Given the description of an element on the screen output the (x, y) to click on. 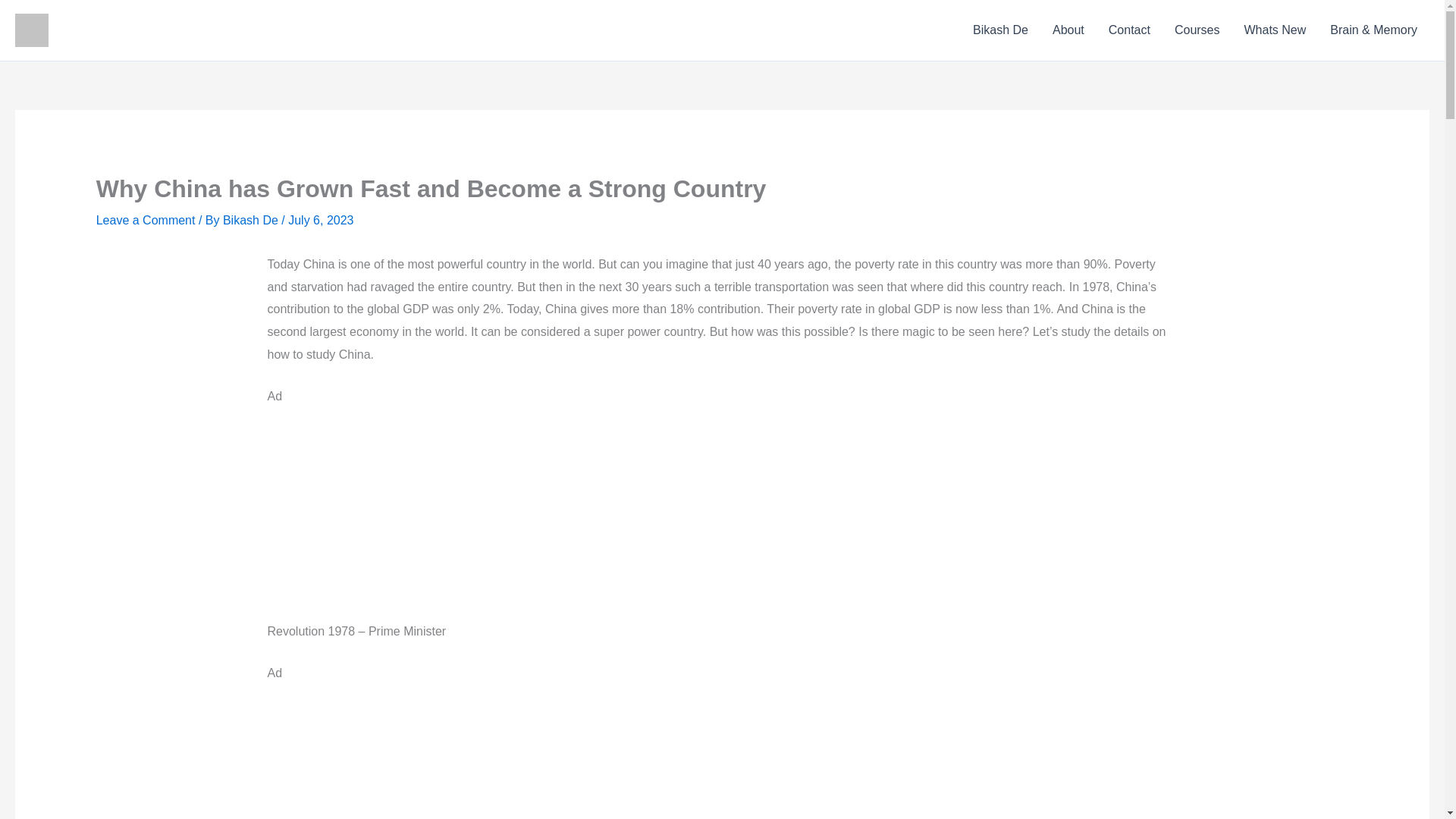
View all posts by Bikash De (251, 219)
Bikash De (1000, 30)
About (1068, 30)
Bikash De (251, 219)
Courses (1196, 30)
Contact (1128, 30)
Whats New (1274, 30)
Leave a Comment (145, 219)
